Given the description of an element on the screen output the (x, y) to click on. 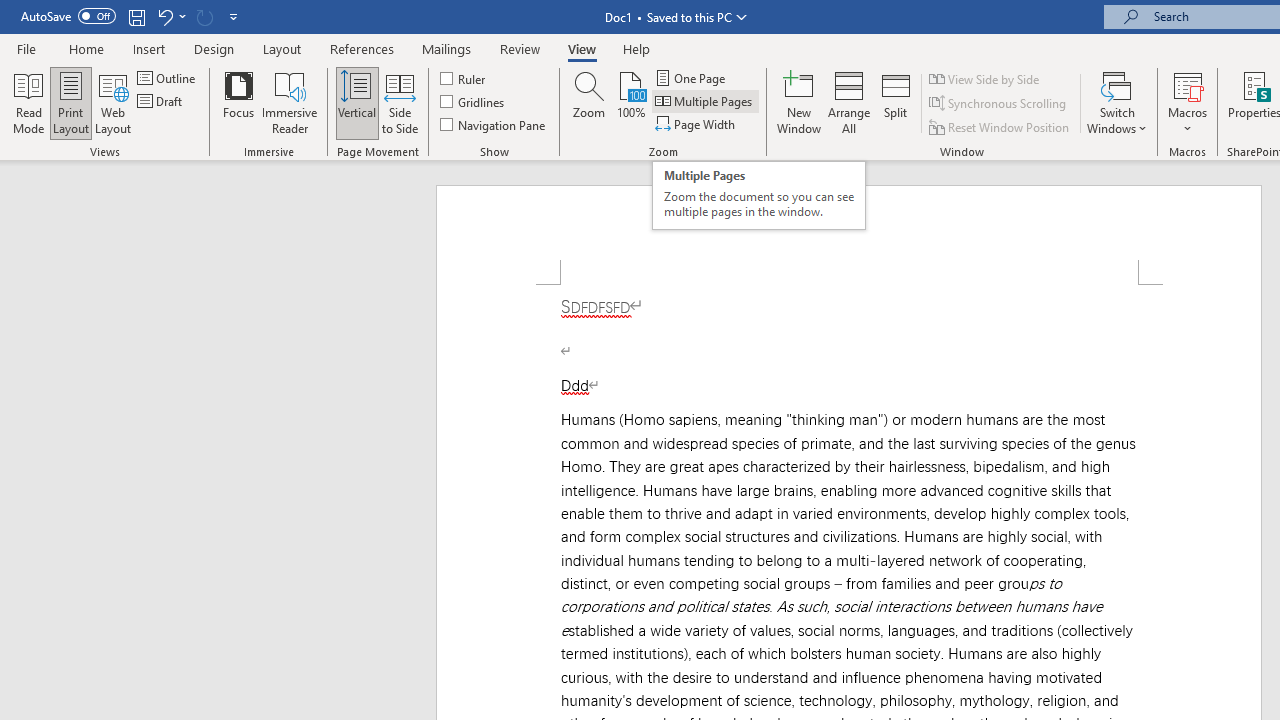
Immersive Reader (289, 102)
Multiple Pages (705, 101)
View Macros (1187, 84)
New Window (799, 102)
Draft (161, 101)
Synchronous Scrolling (998, 103)
Undo Apply Quick Style Set (164, 15)
Arrange All (848, 102)
Gridlines (473, 101)
One Page (691, 78)
